Given the description of an element on the screen output the (x, y) to click on. 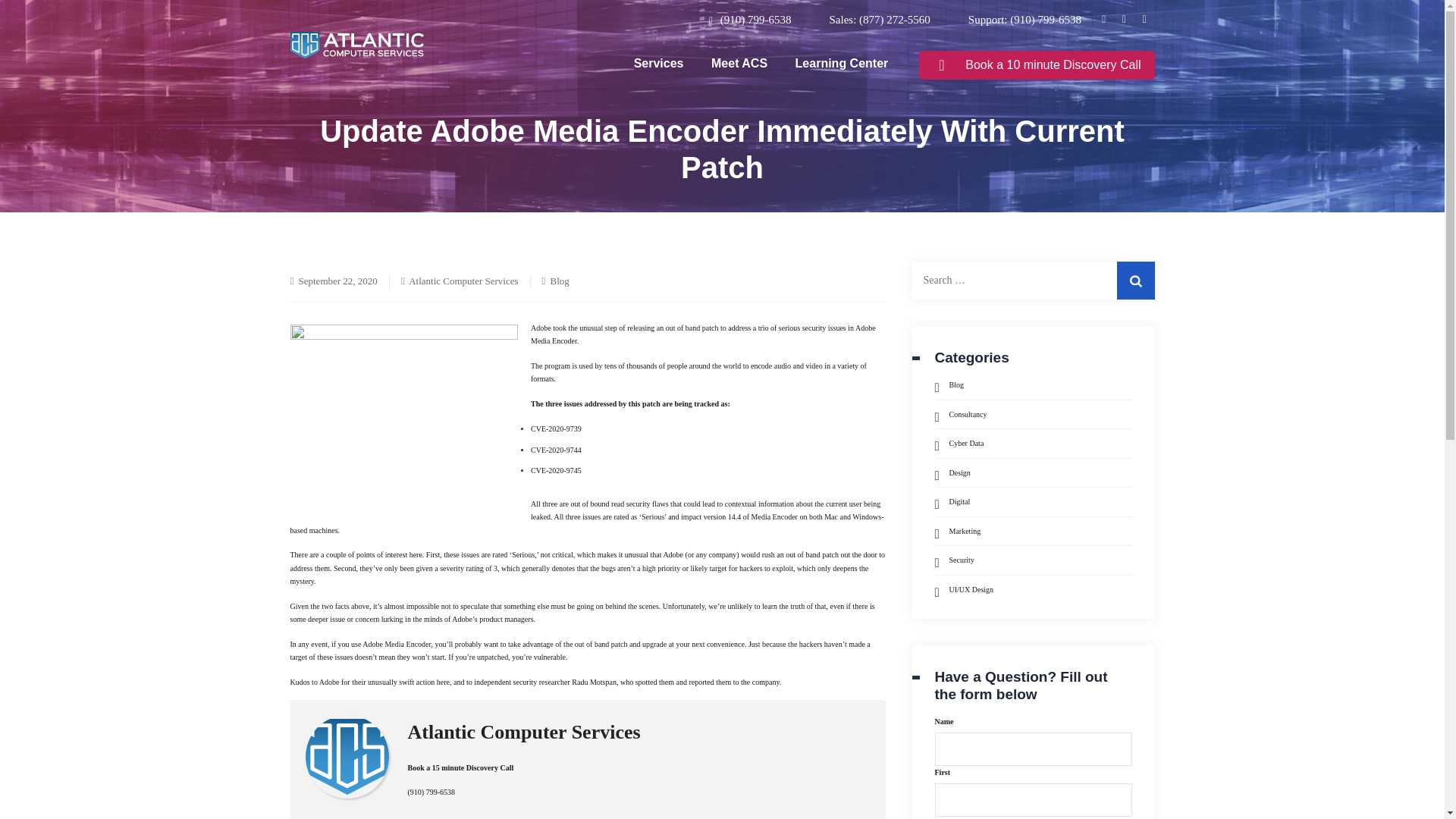
Atlantic Computer Services (463, 280)
Search (1135, 280)
Learning Center (842, 62)
Blog (559, 280)
Meet ACS (739, 62)
Atlantic Computer Services (523, 732)
September 22, 2020 (337, 280)
Book a 10 minute Discovery Call (1036, 64)
Search (1135, 280)
Book a 15 minute Discovery Call (460, 767)
Services (659, 62)
